Given the description of an element on the screen output the (x, y) to click on. 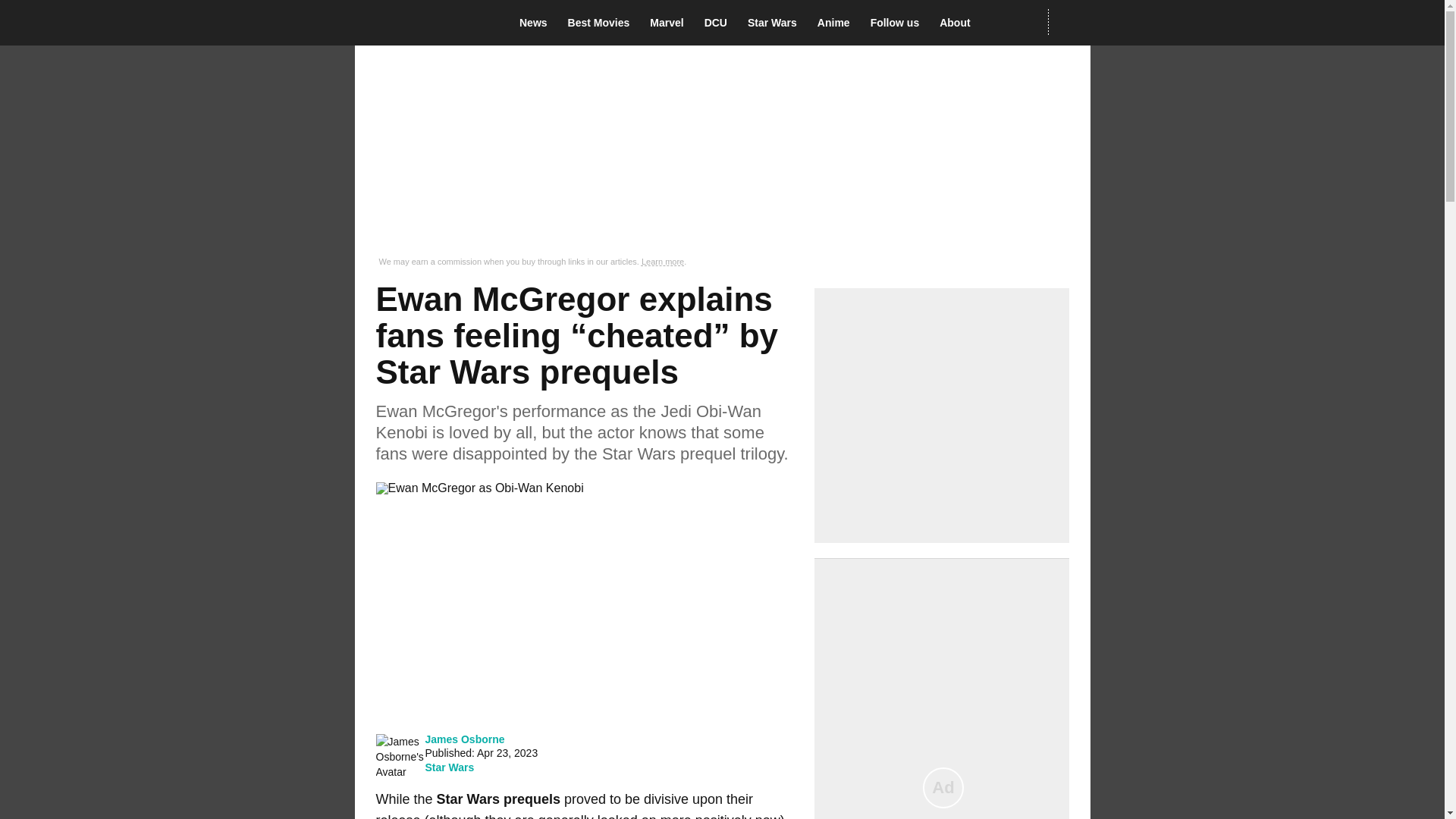
Star Wars (449, 767)
Star Wars News (777, 22)
The Digital Fix (424, 22)
Star Wars (777, 22)
Network N Media (1068, 22)
Anime (837, 22)
Best Movies (603, 22)
Marvel Cinematic Universe News (671, 22)
Follow us (899, 22)
James Osborne (464, 739)
